Given the description of an element on the screen output the (x, y) to click on. 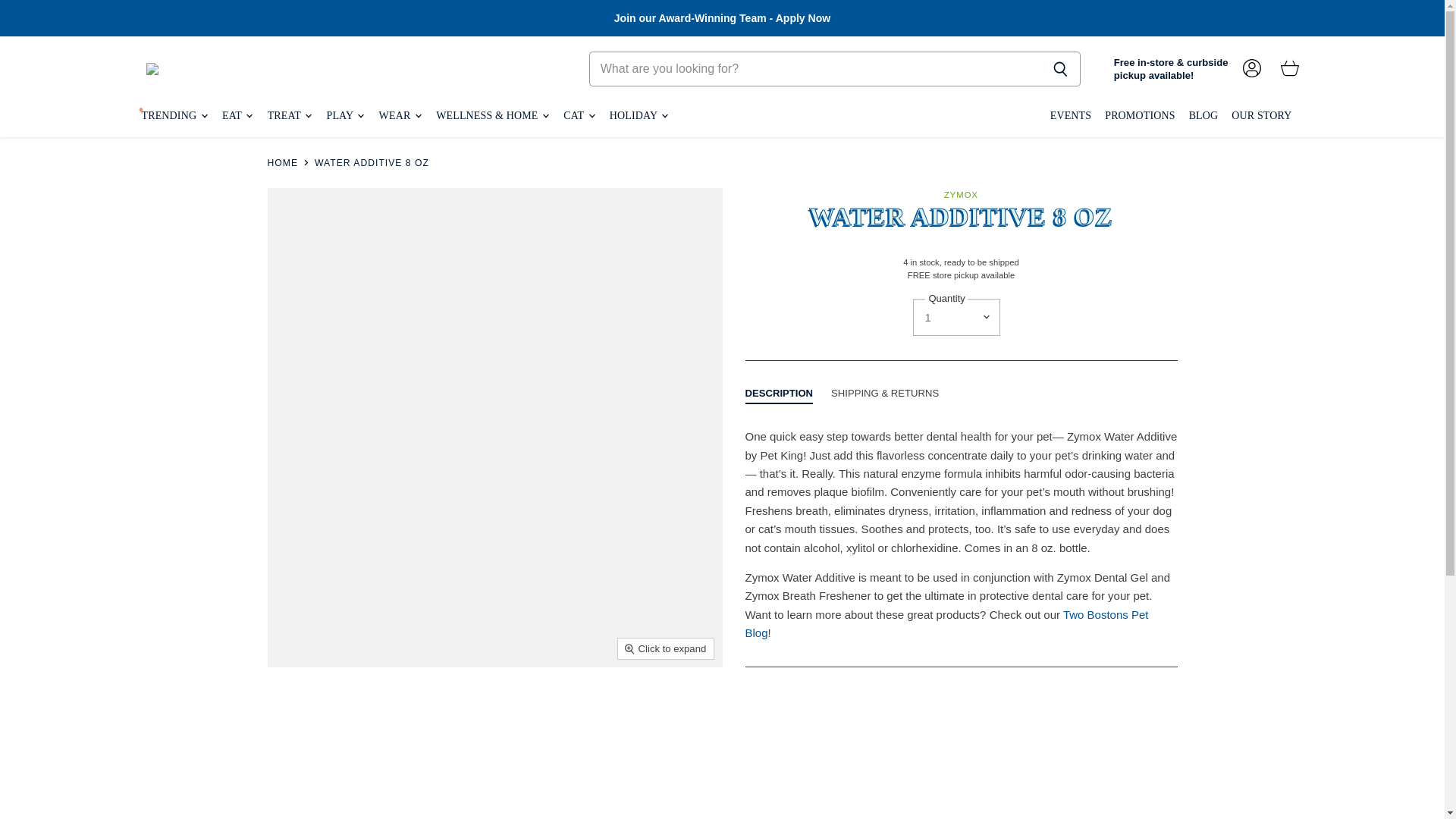
Zymox (960, 194)
TREAT (288, 115)
View cart (1289, 68)
EAT (236, 115)
TRENDING (173, 115)
